Given the description of an element on the screen output the (x, y) to click on. 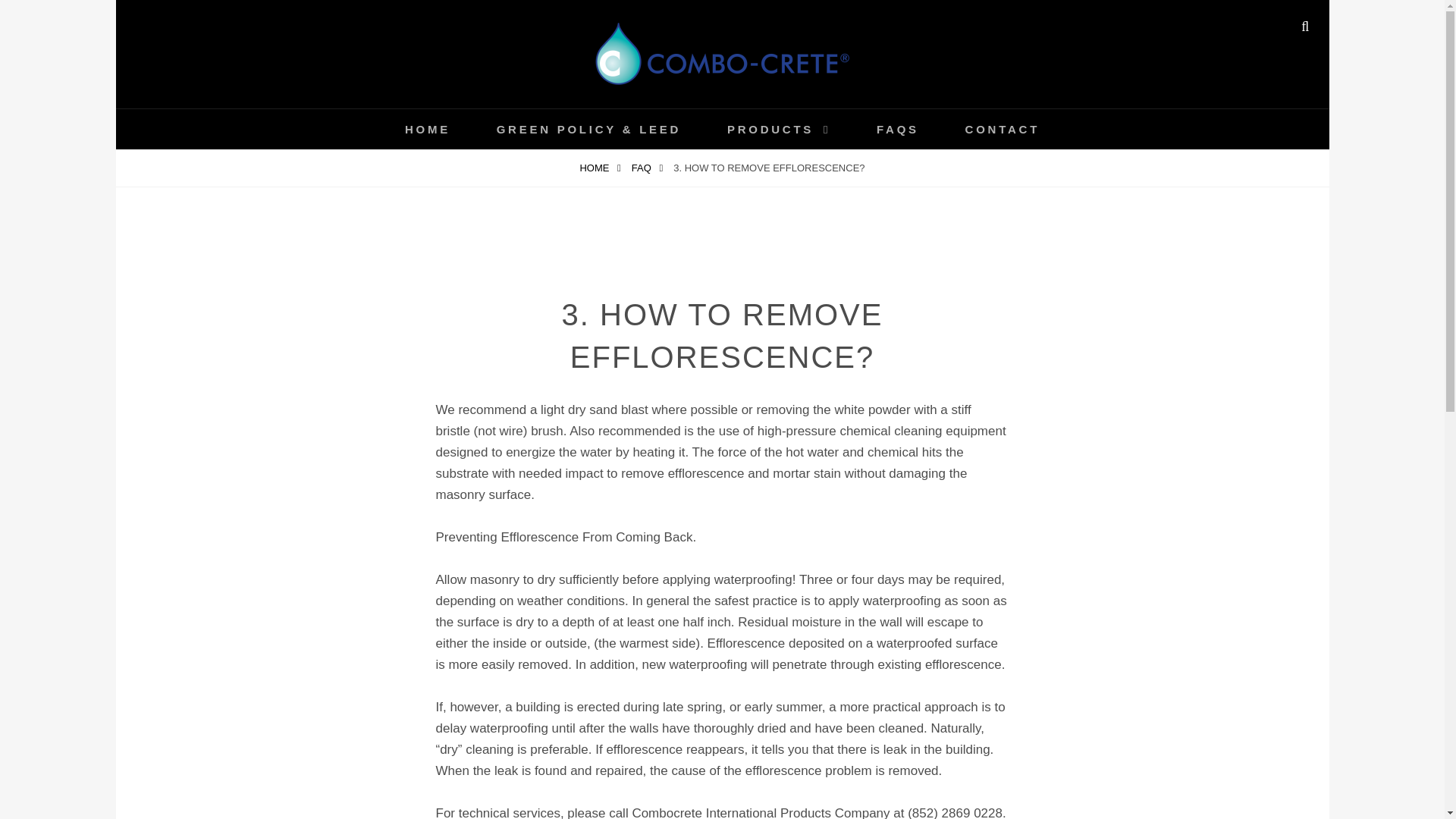
HOME (599, 167)
FAQ (647, 167)
PRODUCTS (778, 128)
CONTACT (1002, 128)
Products (778, 128)
HOME (427, 128)
FAQS (898, 128)
